Given the description of an element on the screen output the (x, y) to click on. 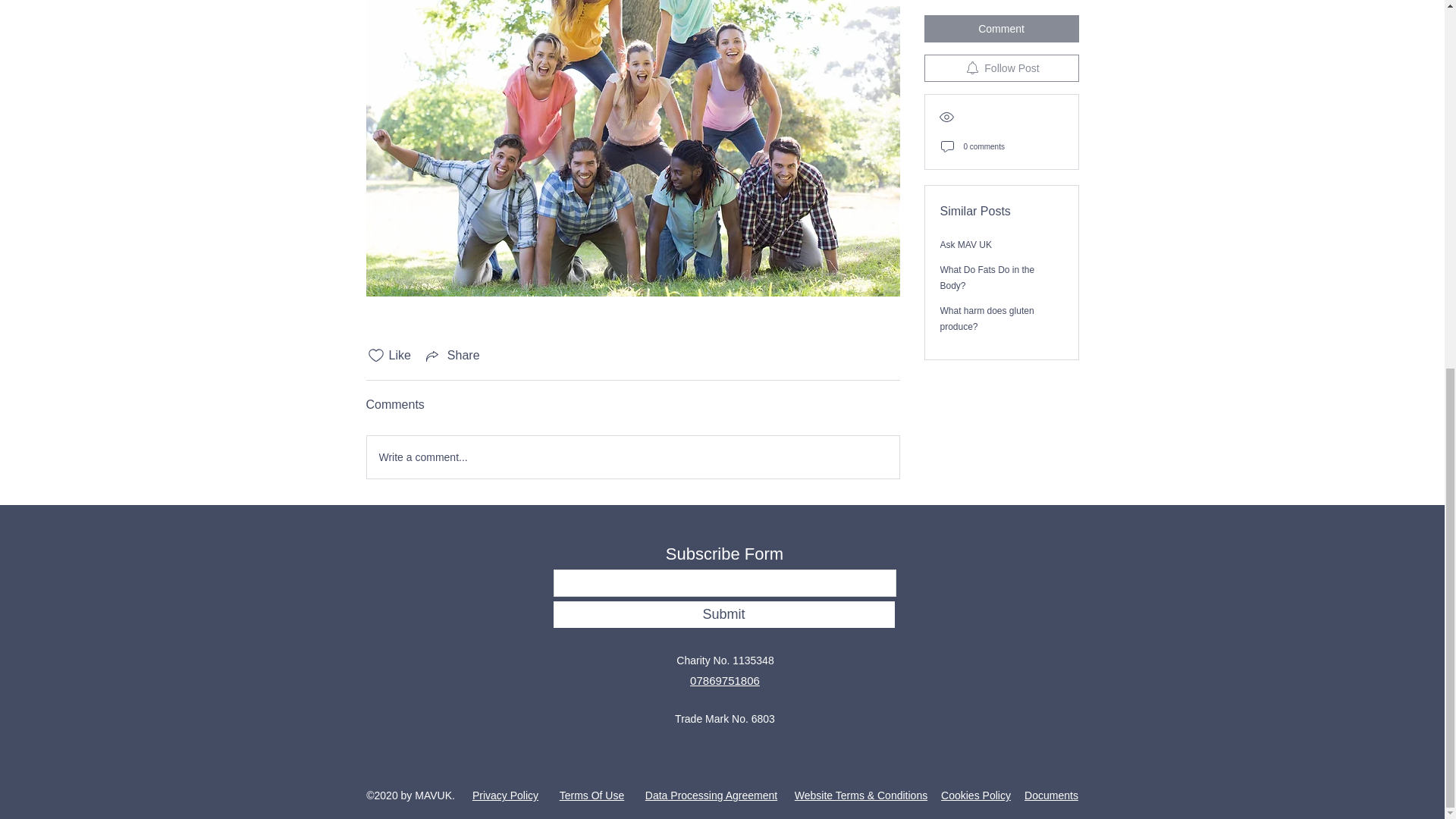
07869751806 (725, 680)
Submit (724, 614)
Write a comment... (632, 456)
Share (451, 355)
